Given the description of an element on the screen output the (x, y) to click on. 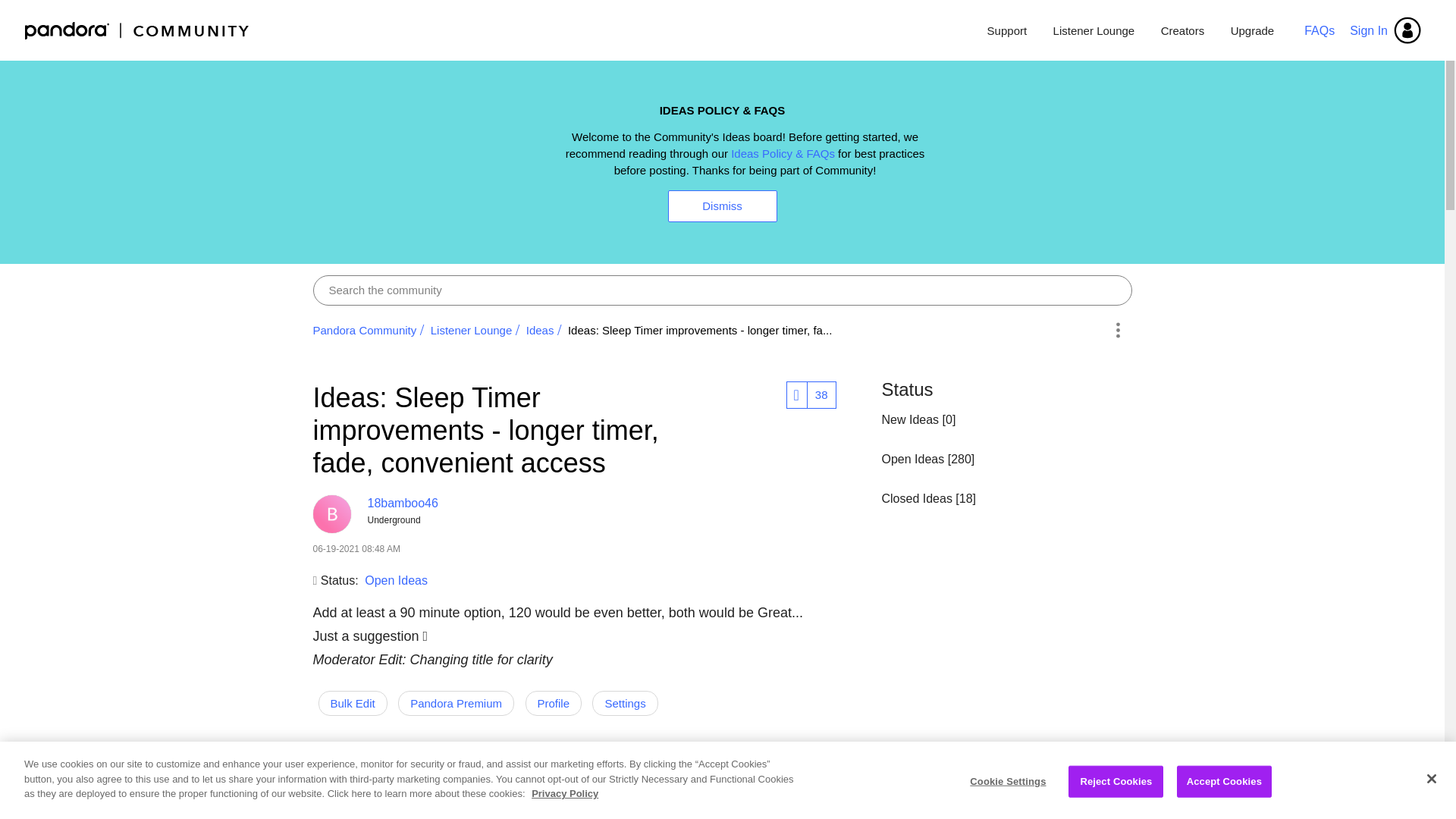
Search (722, 290)
Pandora Community (364, 329)
Support (1007, 30)
Pandora Community (137, 29)
18bamboo46 (331, 514)
Ideas (539, 329)
Listener Lounge (471, 329)
Show option menu (1117, 329)
Creators (1182, 30)
Listener Lounge (1094, 30)
Click here to see who gave likes to this post. (820, 394)
Options (1117, 329)
Posted on (497, 548)
FAQs (1319, 30)
Dismiss (721, 205)
